Given the description of an element on the screen output the (x, y) to click on. 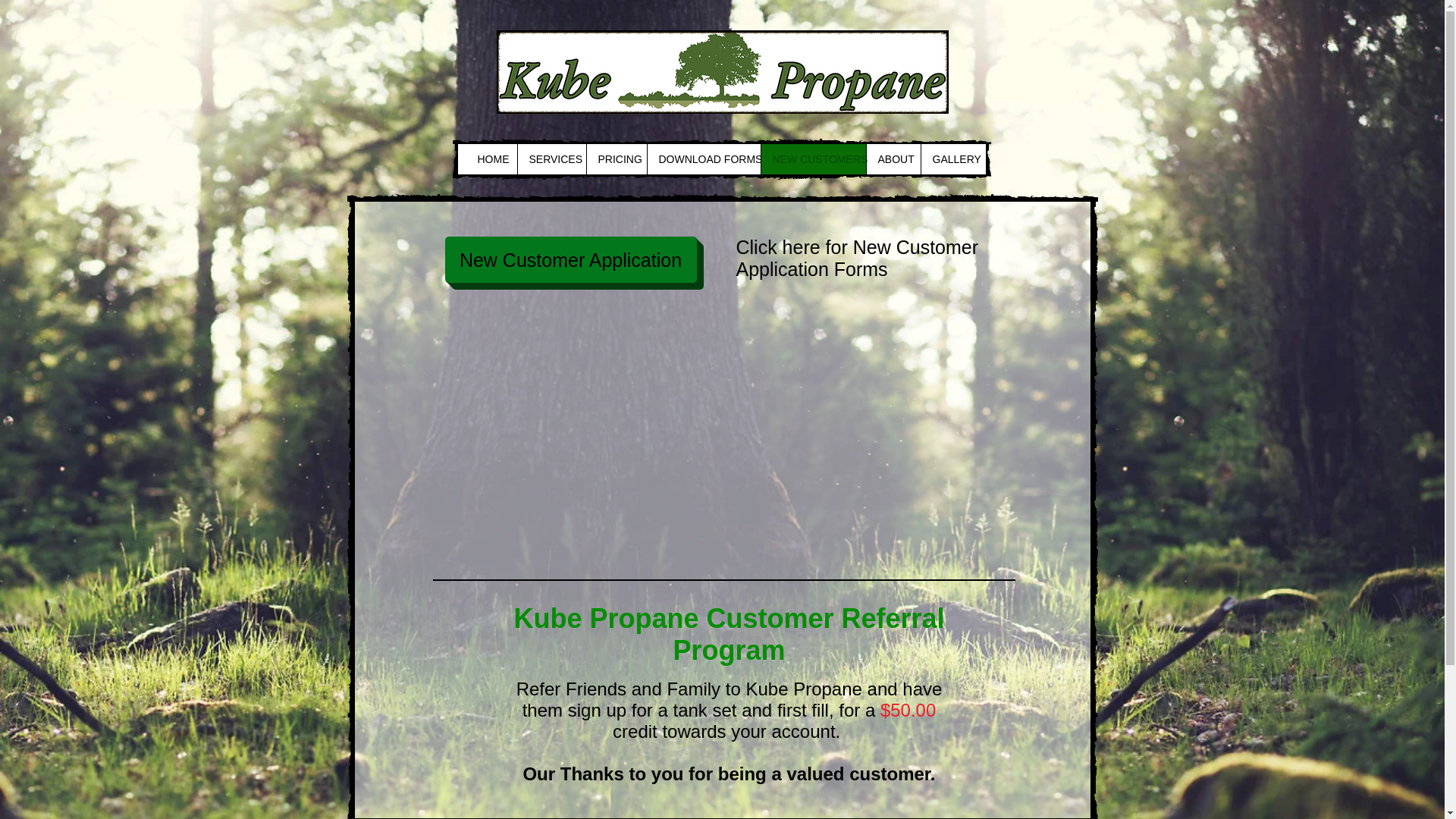
HOME (490, 159)
GALLERY (952, 159)
PRICING (615, 159)
ABOUT (893, 159)
new Logo.png 2015-9-15-19:57:3 (721, 71)
New Customer Application (569, 259)
NEW CUSTOMERS (812, 159)
SERVICES (551, 159)
DOWNLOAD FORMS (703, 159)
